Given the description of an element on the screen output the (x, y) to click on. 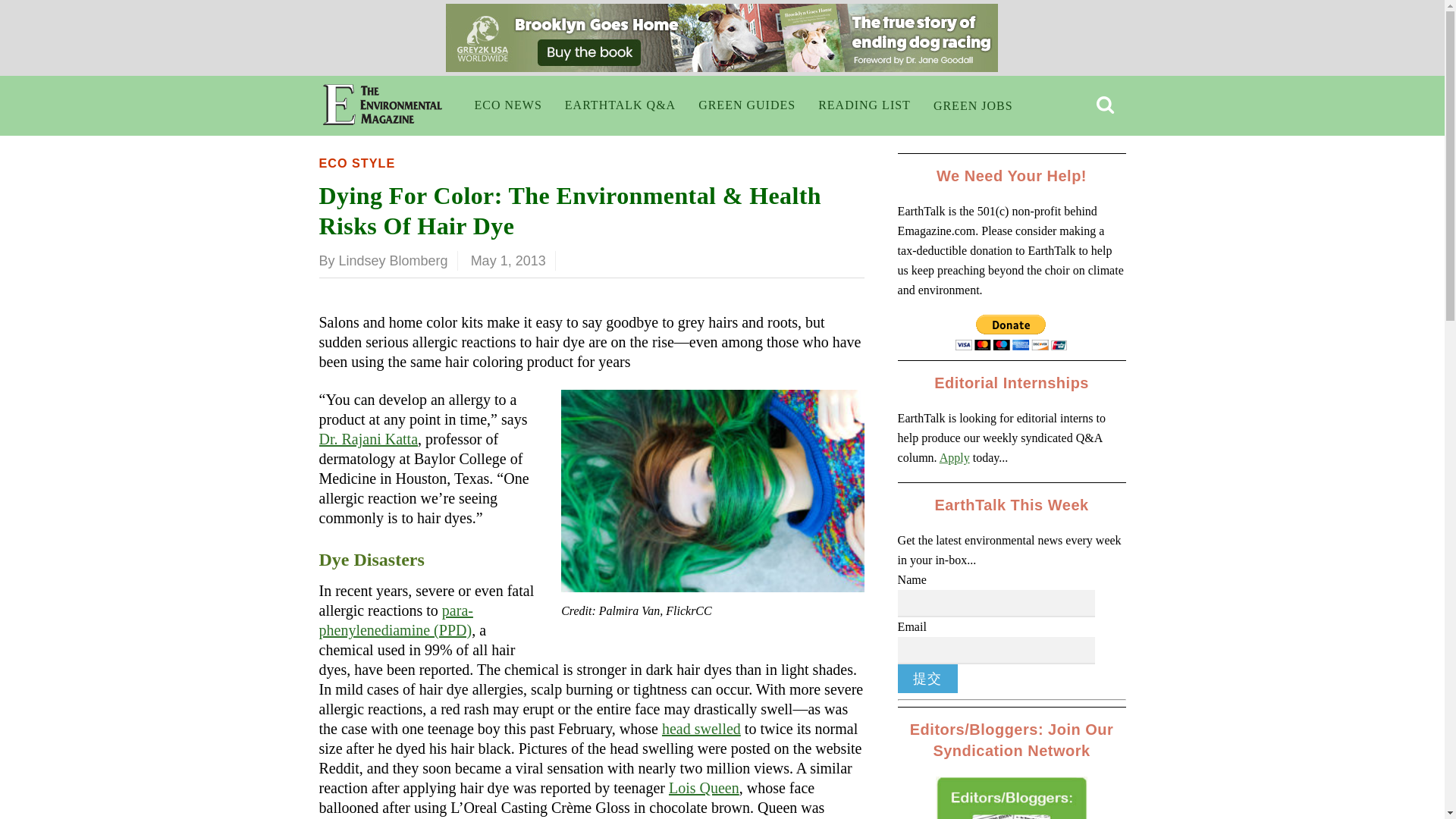
head swelled (701, 728)
ECO NEWS (508, 105)
READING LIST (863, 105)
GREEN GUIDES (746, 105)
ECO STYLE (356, 162)
Lois Queen (703, 787)
Dr. Rajani Katta (367, 438)
Apply (954, 457)
GREEN JOBS (973, 105)
Emagazine.com (382, 114)
Lindsey Blomberg (393, 260)
